Given the description of an element on the screen output the (x, y) to click on. 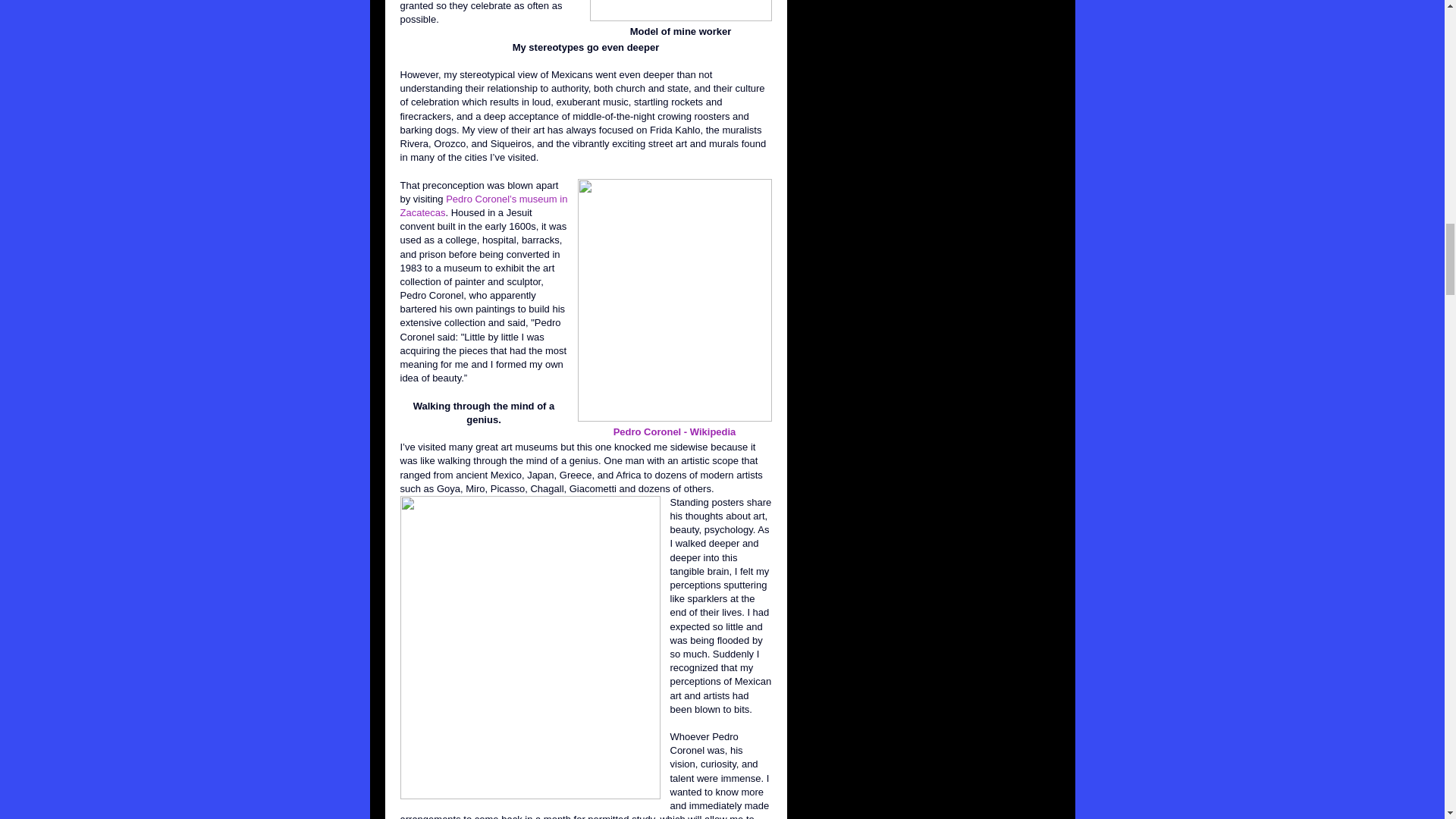
Pedro Coronel - Wikipedia (674, 431)
